Given the description of an element on the screen output the (x, y) to click on. 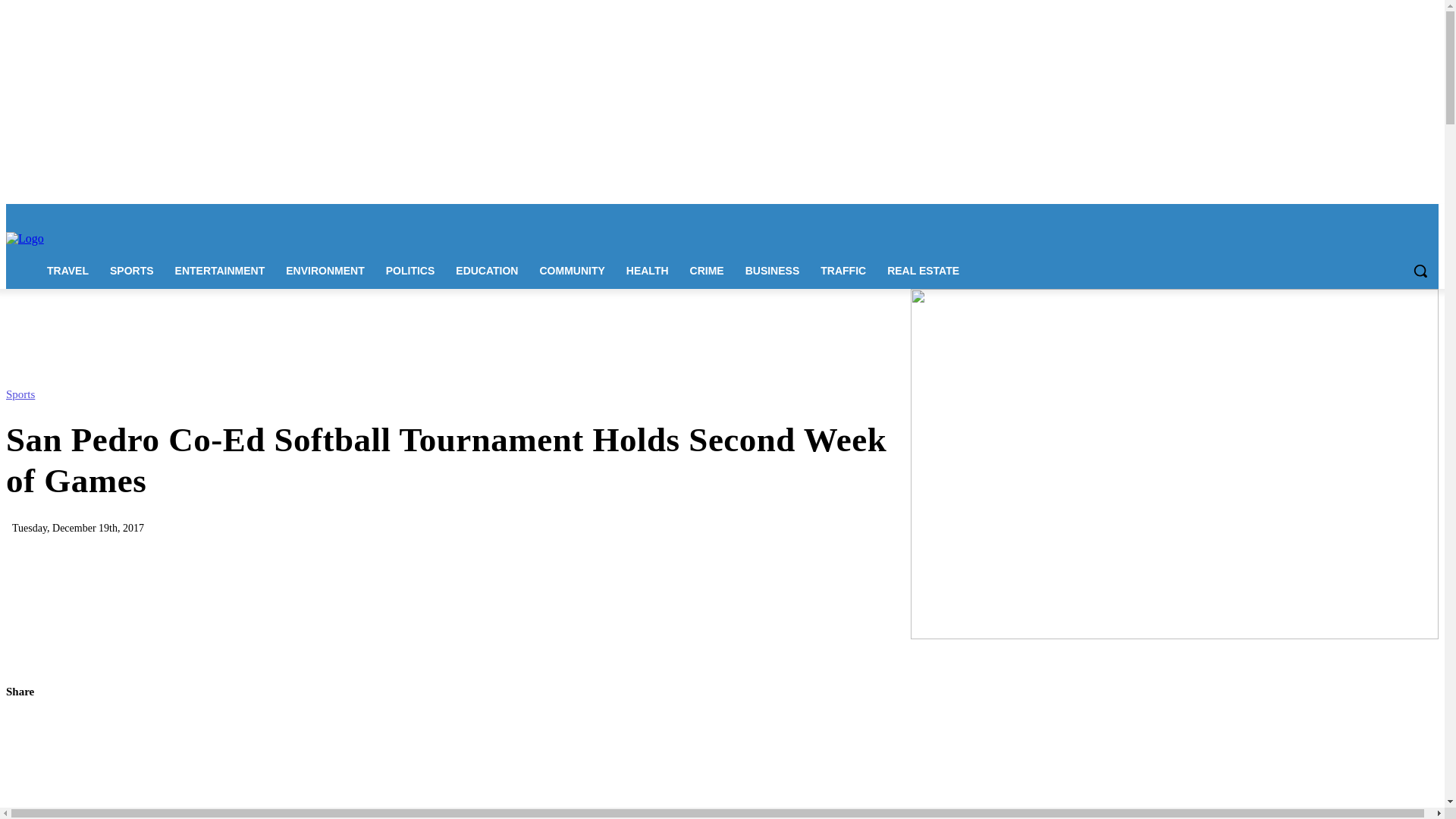
ENVIRONMENT (324, 270)
Archives (476, 214)
REAL ESTATE (922, 270)
Classifieds (427, 214)
COMMUNITY (571, 270)
Instagram (1345, 214)
Twitter (1407, 214)
Linkedin (1366, 214)
TRAFFIC (842, 270)
Contact Us (207, 214)
Pinterest (1387, 214)
CRIME (707, 270)
TRAVEL (67, 270)
SPORTS (131, 270)
